Given the description of an element on the screen output the (x, y) to click on. 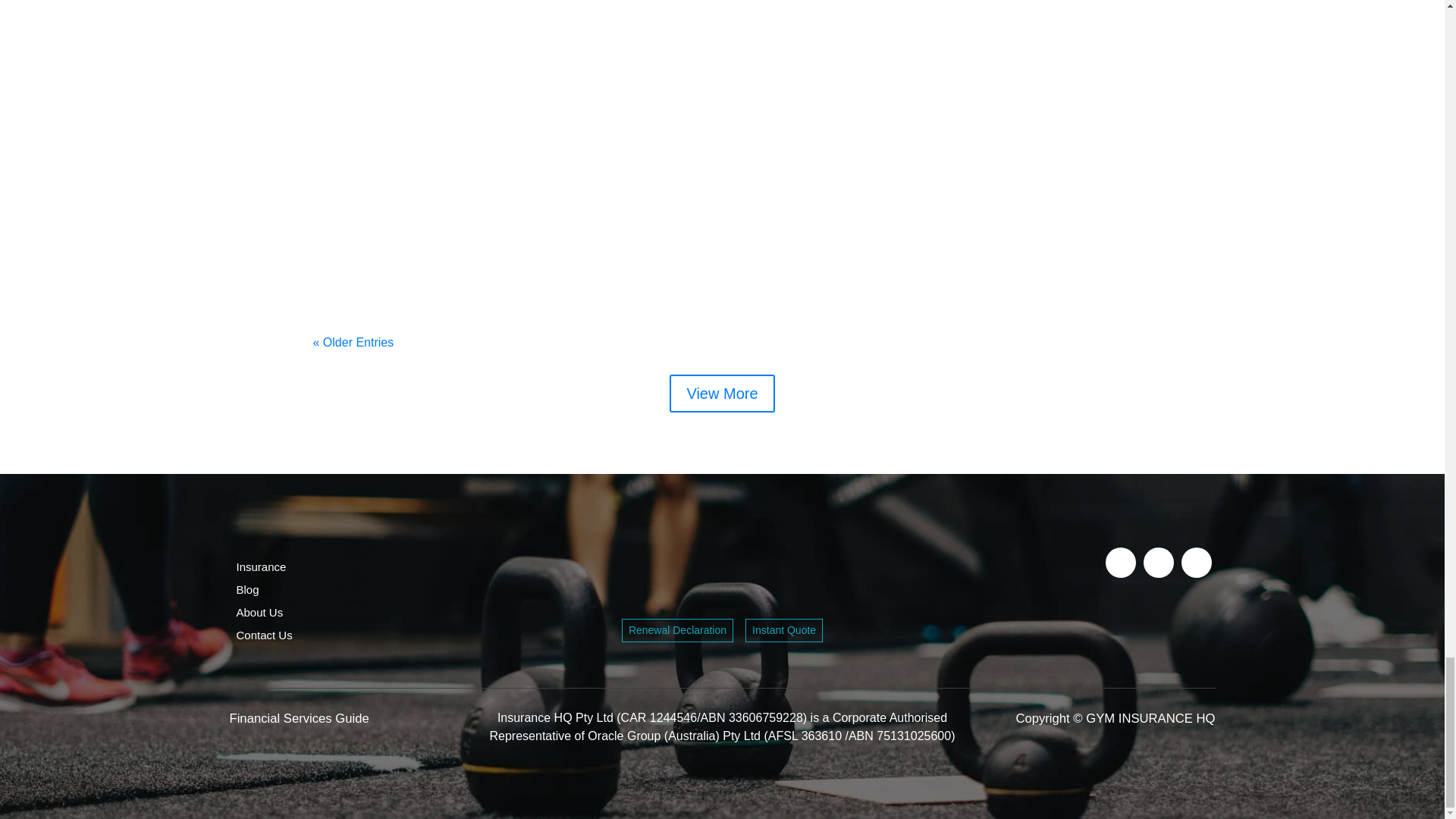
logo2 (721, 578)
